Given the description of an element on the screen output the (x, y) to click on. 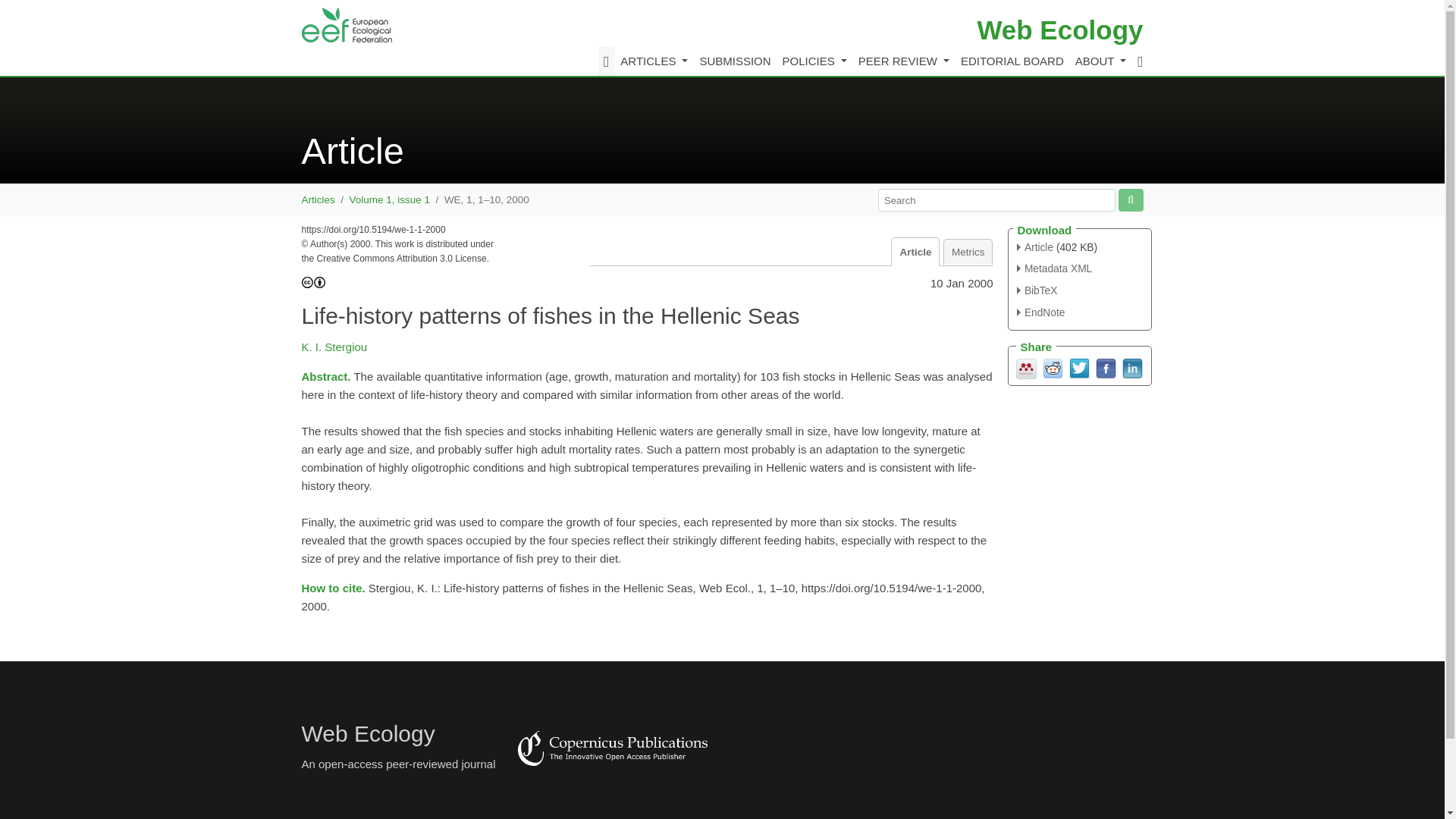
ARTICLES (654, 60)
Start site search (1130, 199)
Mendeley (1026, 367)
Twitter (1078, 367)
Reddit (1052, 367)
Web Ecology (1059, 30)
POLICIES (813, 60)
EDITORIAL BOARD (1011, 60)
ABOUT (1099, 60)
XML Version (1054, 268)
PEER REVIEW (903, 60)
SUBMISSION (735, 60)
